Given the description of an element on the screen output the (x, y) to click on. 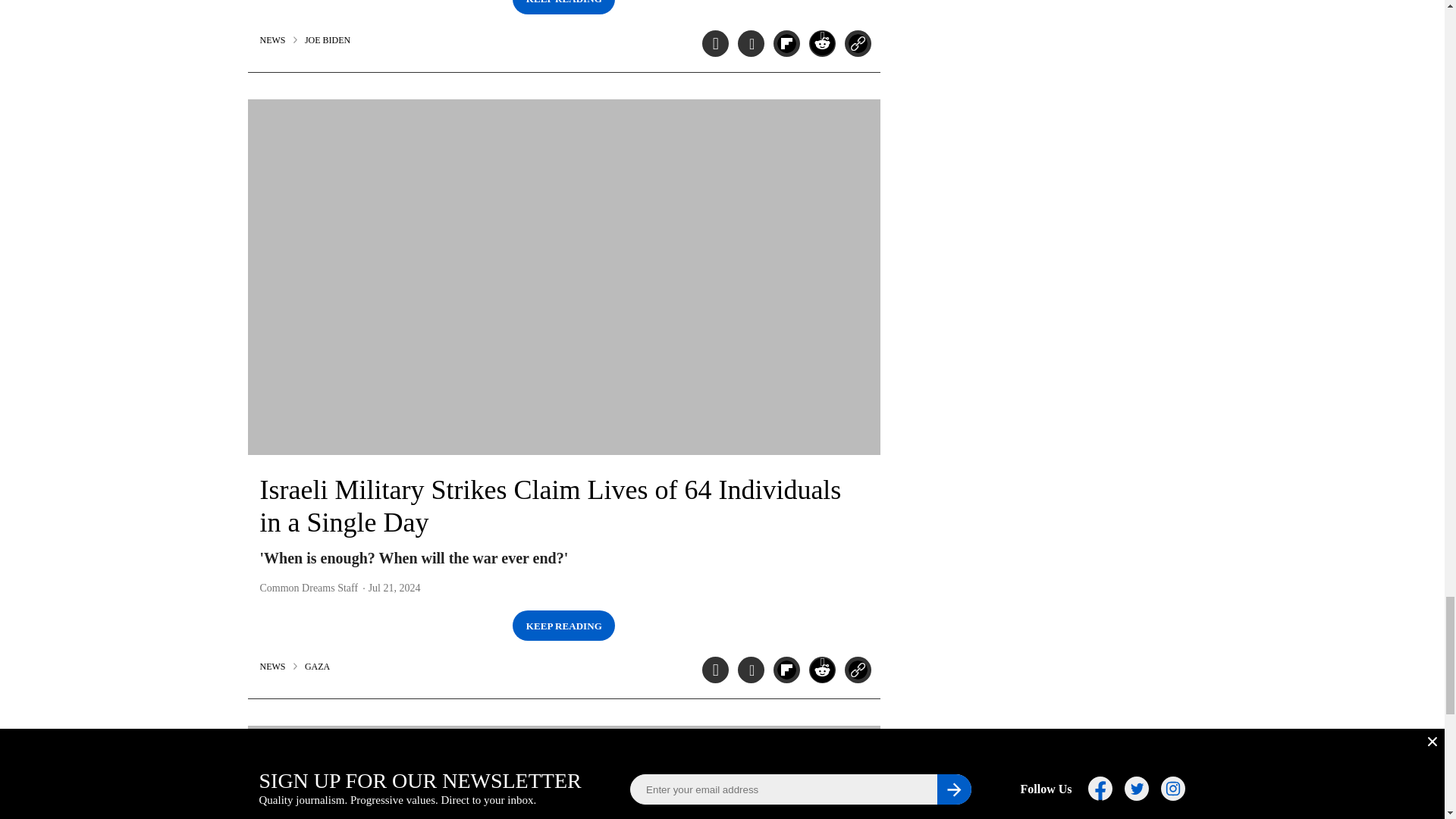
Copy this link to clipboard (857, 669)
Copy this link to clipboard (857, 43)
